Given the description of an element on the screen output the (x, y) to click on. 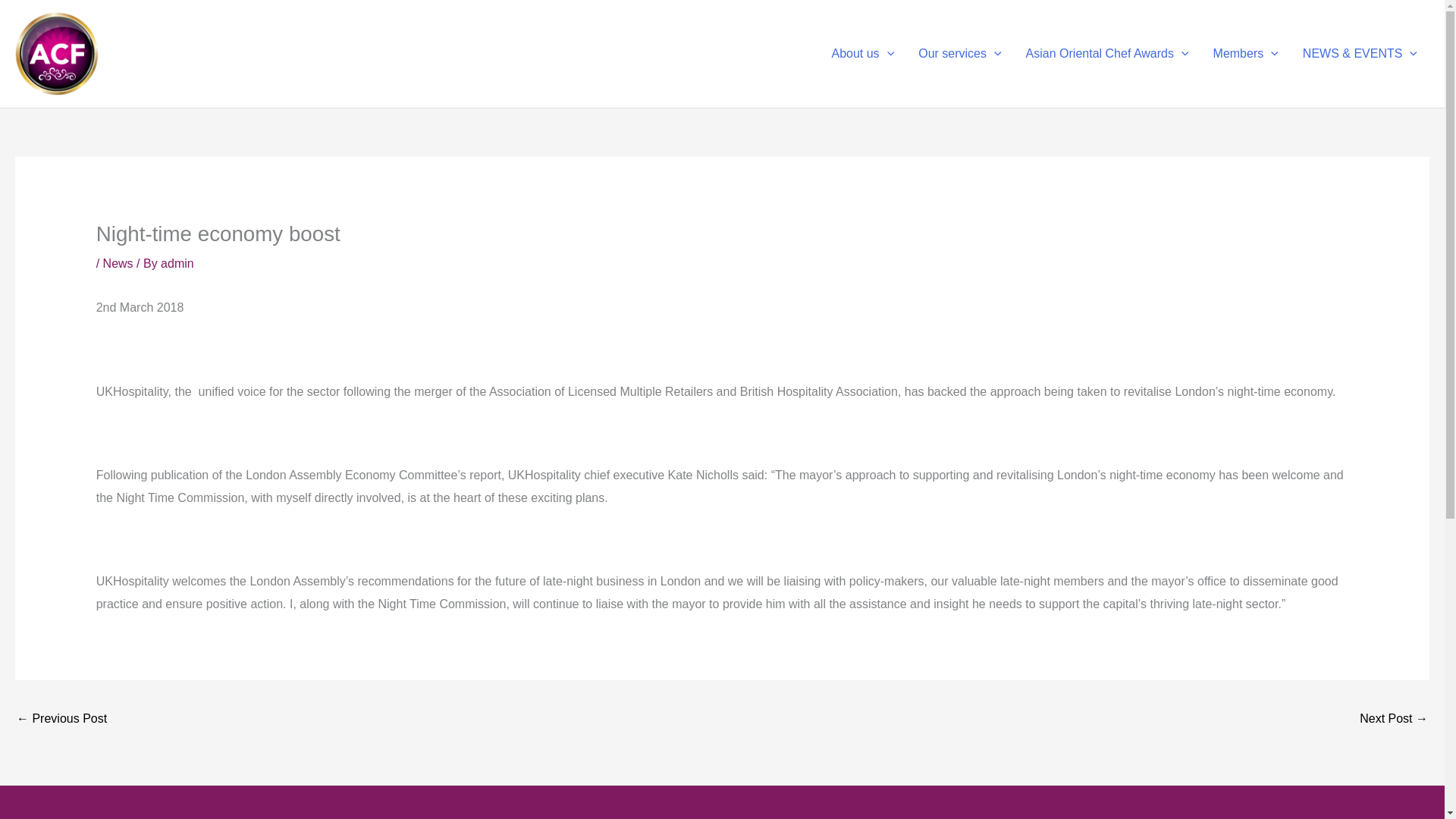
About us (861, 53)
Our services (959, 53)
Asian Oriental Chef Awards (1107, 53)
Members (1245, 53)
About us (861, 53)
Members (1245, 53)
